Given the description of an element on the screen output the (x, y) to click on. 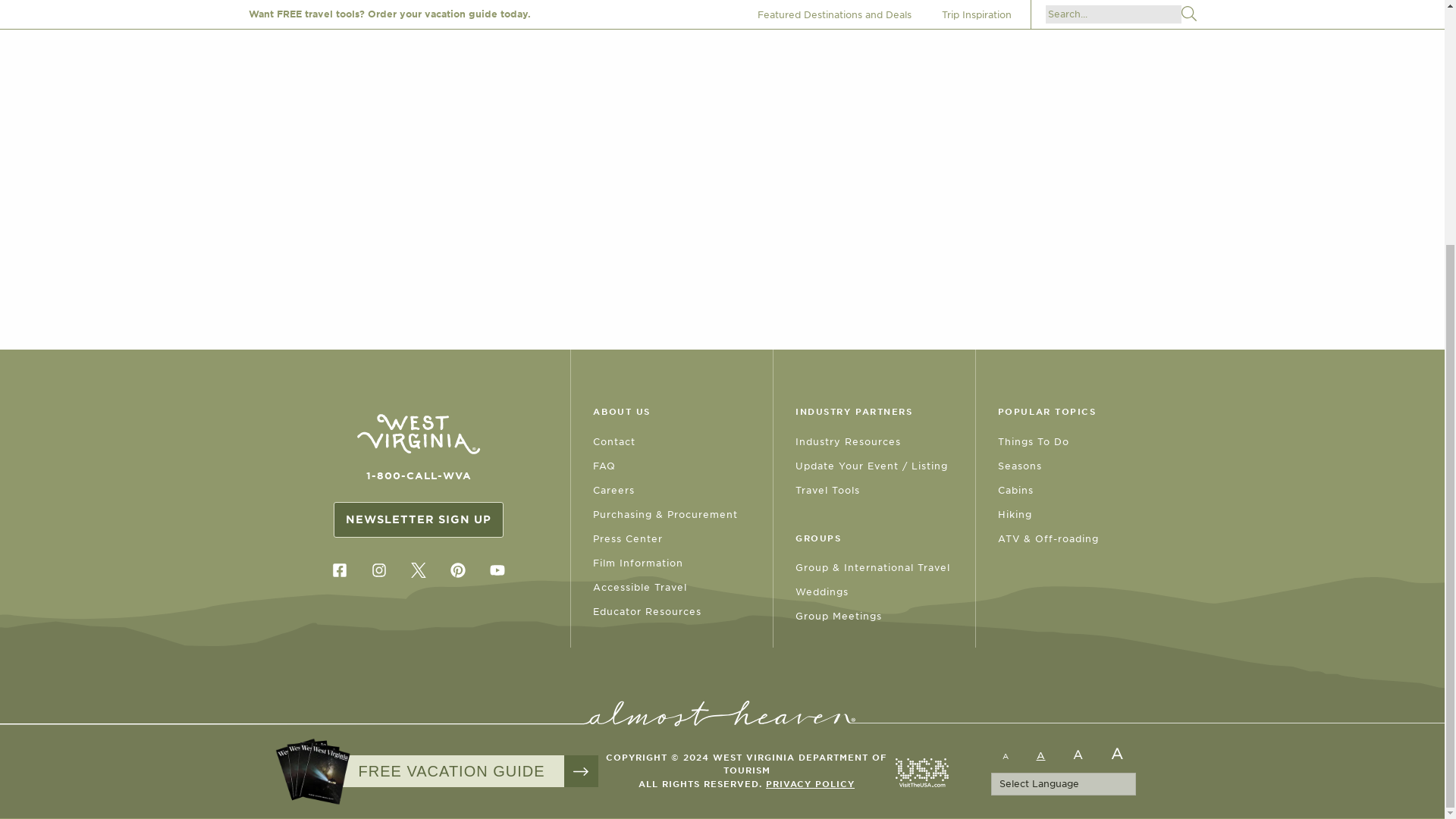
Find us on Instagram (378, 569)
Brand USA logo (921, 772)
Find us on Twitter (418, 569)
Find us on Facebook (339, 569)
Find us on Pinterest (458, 569)
Find us on YouTube (497, 569)
